Given the description of an element on the screen output the (x, y) to click on. 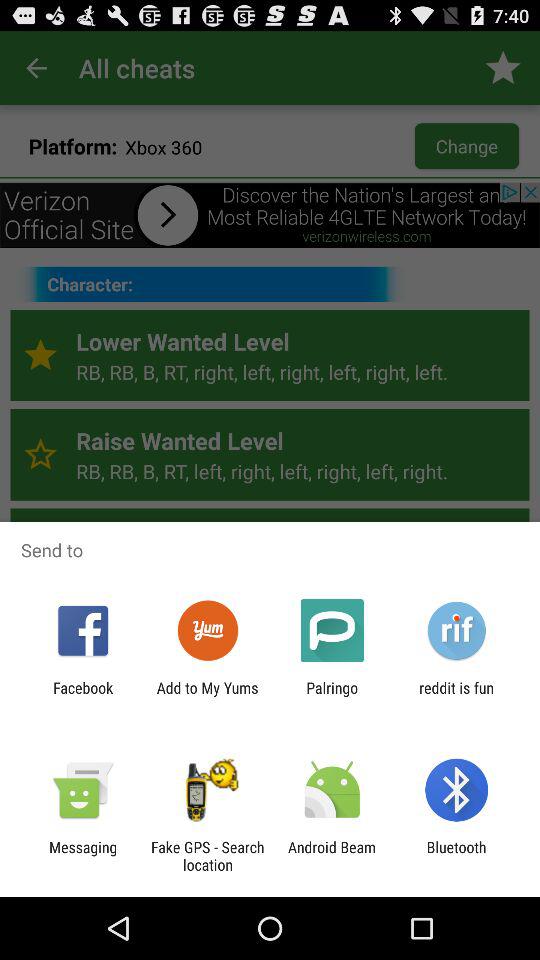
launch the icon next to fake gps search app (332, 856)
